Given the description of an element on the screen output the (x, y) to click on. 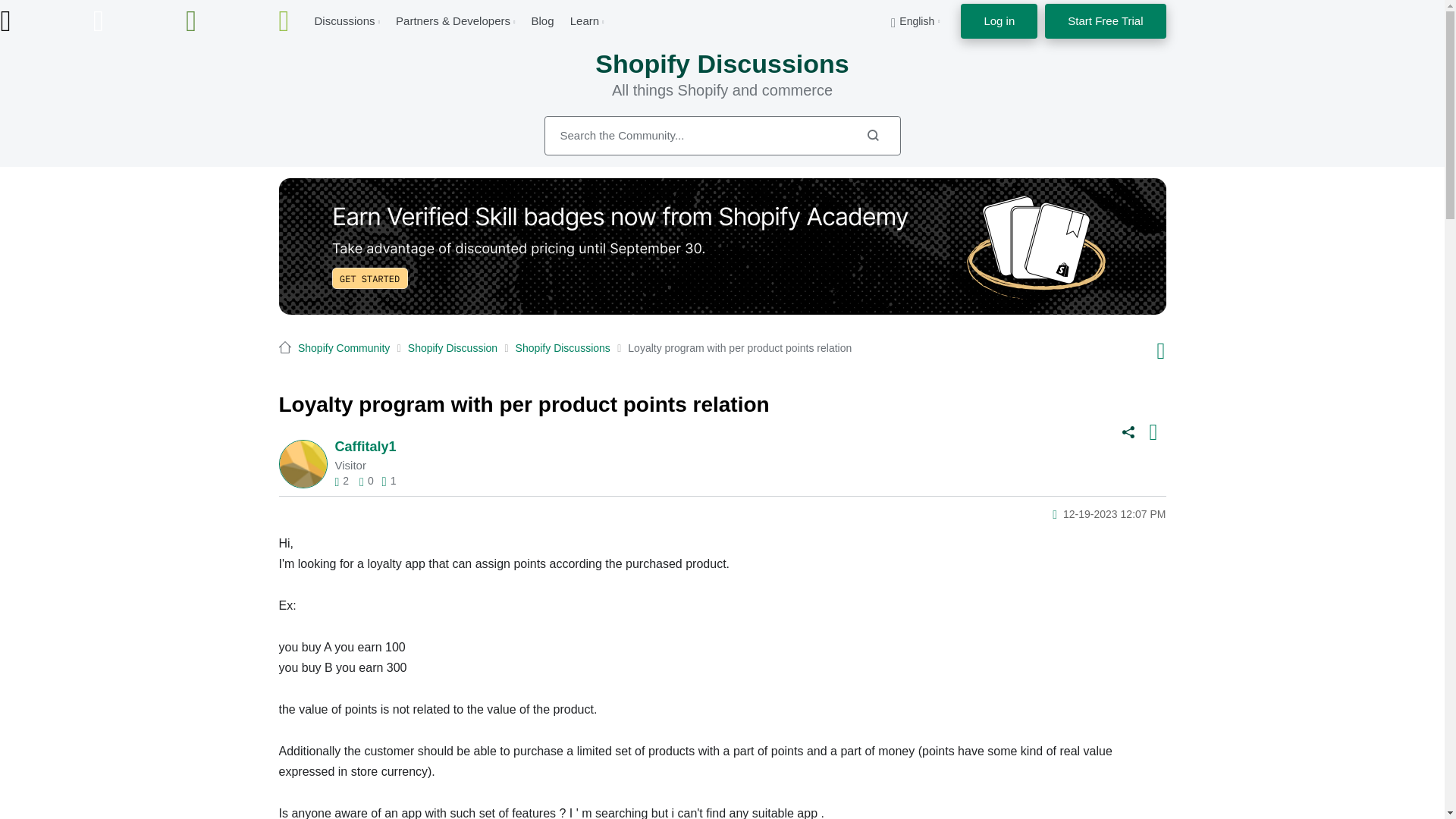
Search (872, 135)
Discussions (344, 20)
Search (722, 135)
Search (872, 135)
